Given the description of an element on the screen output the (x, y) to click on. 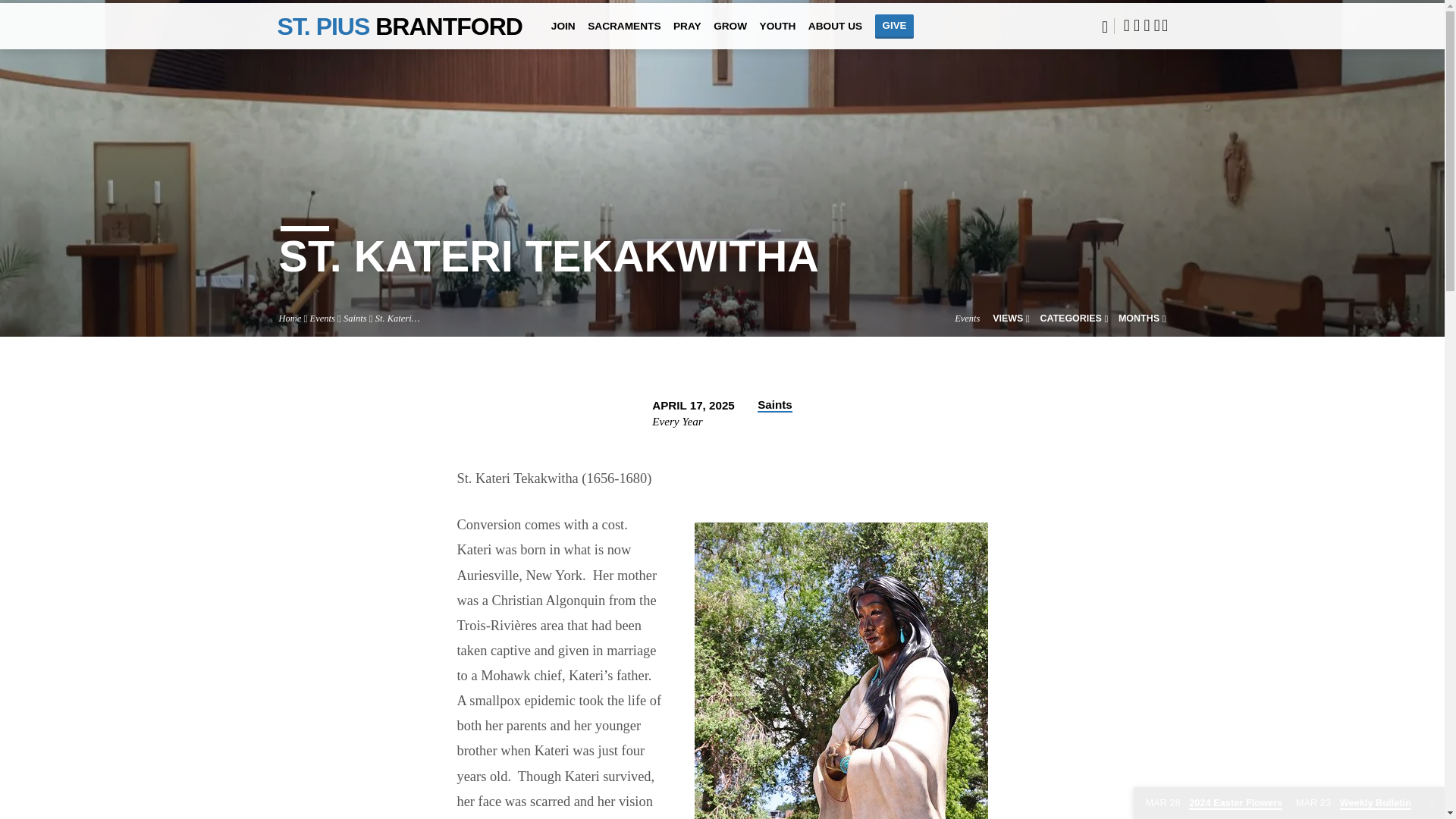
2024 Easter Flowers (1213, 802)
SACRAMENTS (624, 35)
ST. PIUS BRANTFORD (400, 25)
ABOUT US (834, 35)
YOUTH (778, 35)
GROW (729, 35)
